Given the description of an element on the screen output the (x, y) to click on. 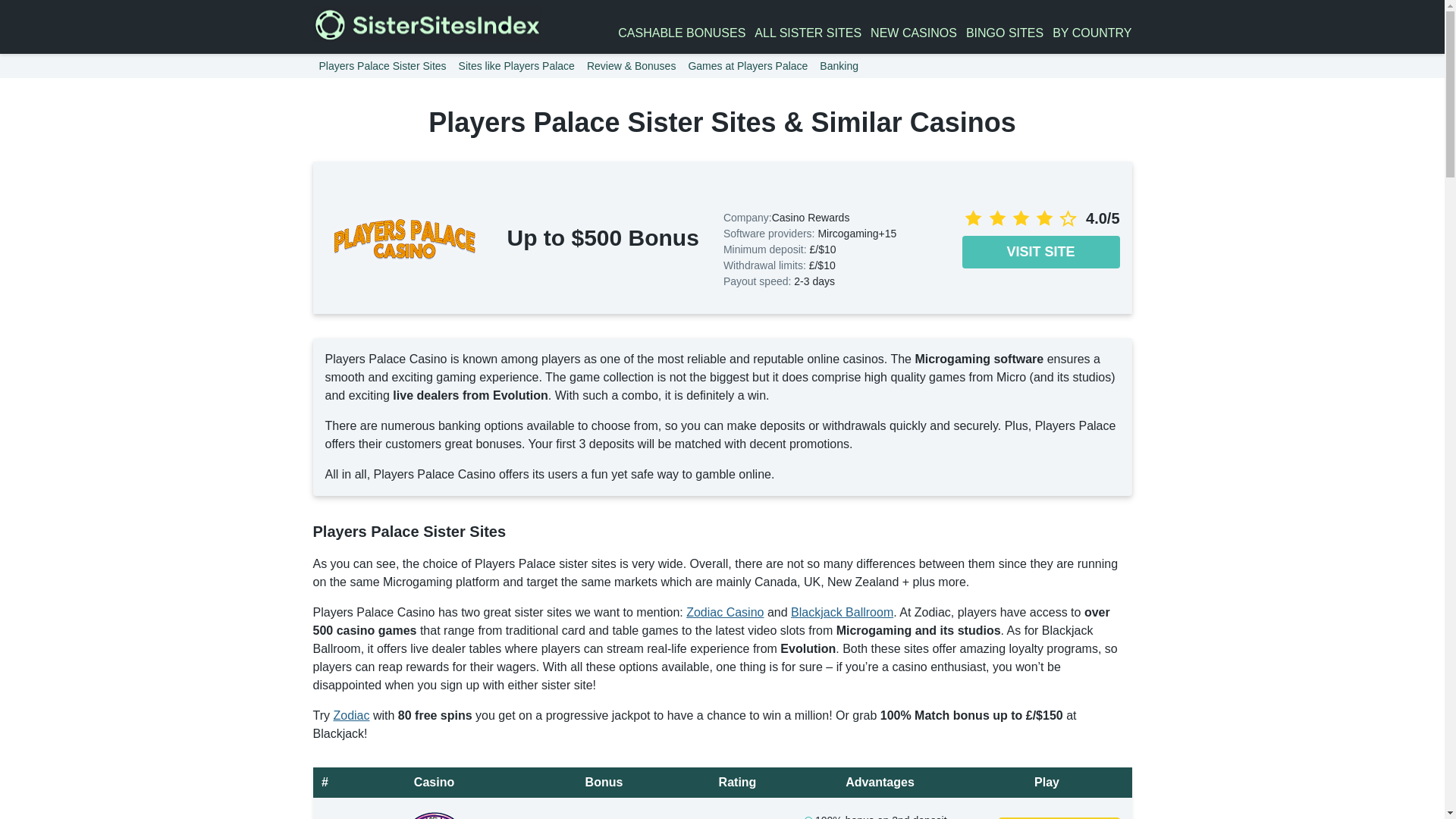
ALL SISTER SITES (807, 33)
Sites like Players Palace (516, 65)
Blackjack Ballroom (841, 612)
Games at Players Palace (747, 65)
Banking (838, 65)
BINGO SITES (1004, 33)
NEW CASINOS (913, 33)
VISIT SITE (1039, 251)
Players Palace Sister Sites (382, 65)
Zodiac Casino (723, 612)
BY COUNTRY (1091, 33)
VISIT SITE (1058, 818)
CASHABLE BONUSES (681, 33)
Zodiac (351, 715)
